Given the description of an element on the screen output the (x, y) to click on. 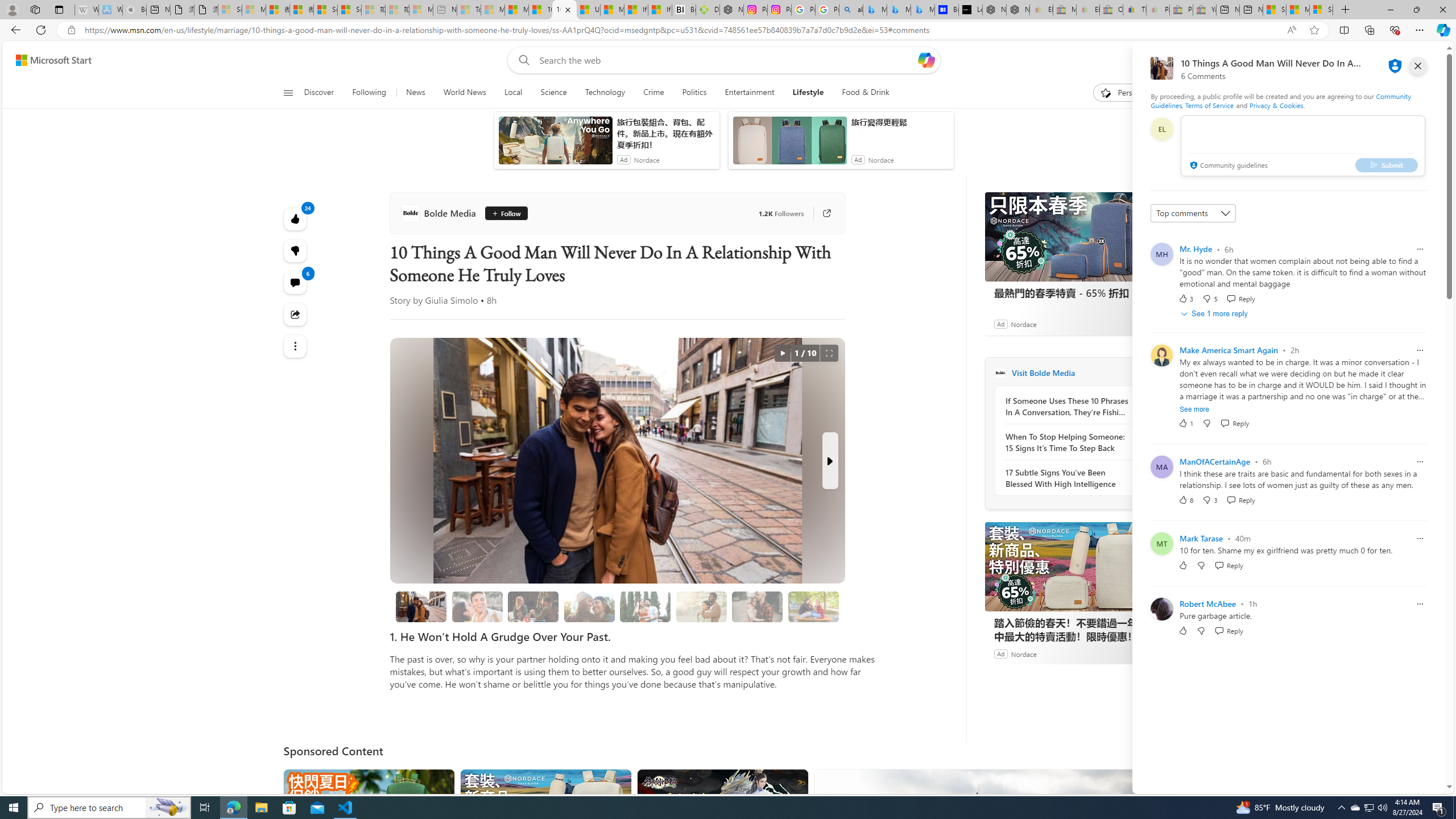
comment-box (1302, 145)
Make America Smart Again (1228, 349)
Community guidelines (1228, 165)
Mr. Hyde (1195, 248)
close (1417, 65)
Microsoft Services Agreement - Sleeping (253, 9)
8 Like (1185, 499)
Nordace (1023, 653)
Feedback (1402, 784)
